Given the description of an element on the screen output the (x, y) to click on. 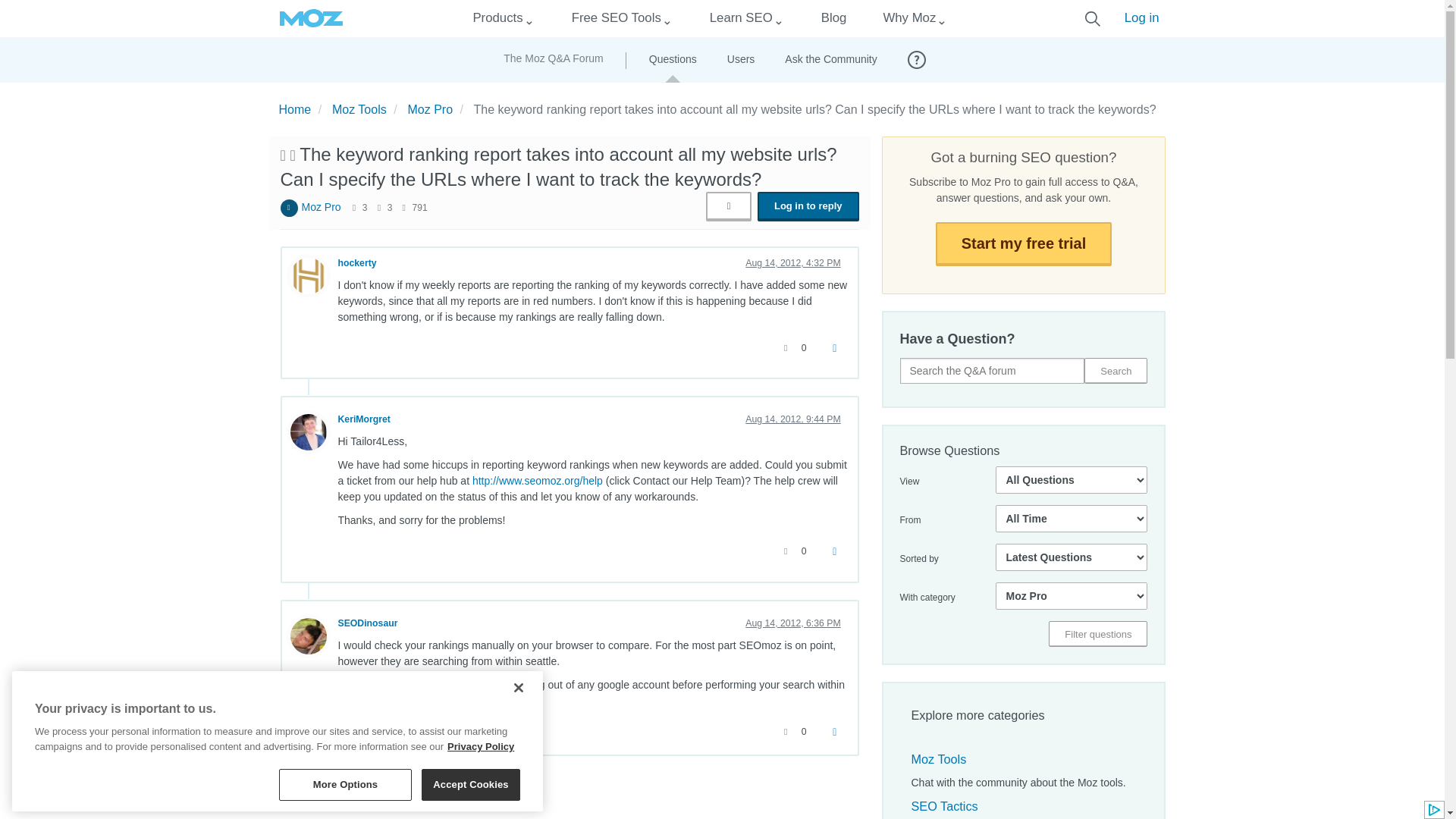
Moz logo (311, 18)
Moz Home (311, 18)
Moz logo (311, 18)
Products (496, 18)
Filter questions (1097, 633)
Search (1115, 370)
